Given the description of an element on the screen output the (x, y) to click on. 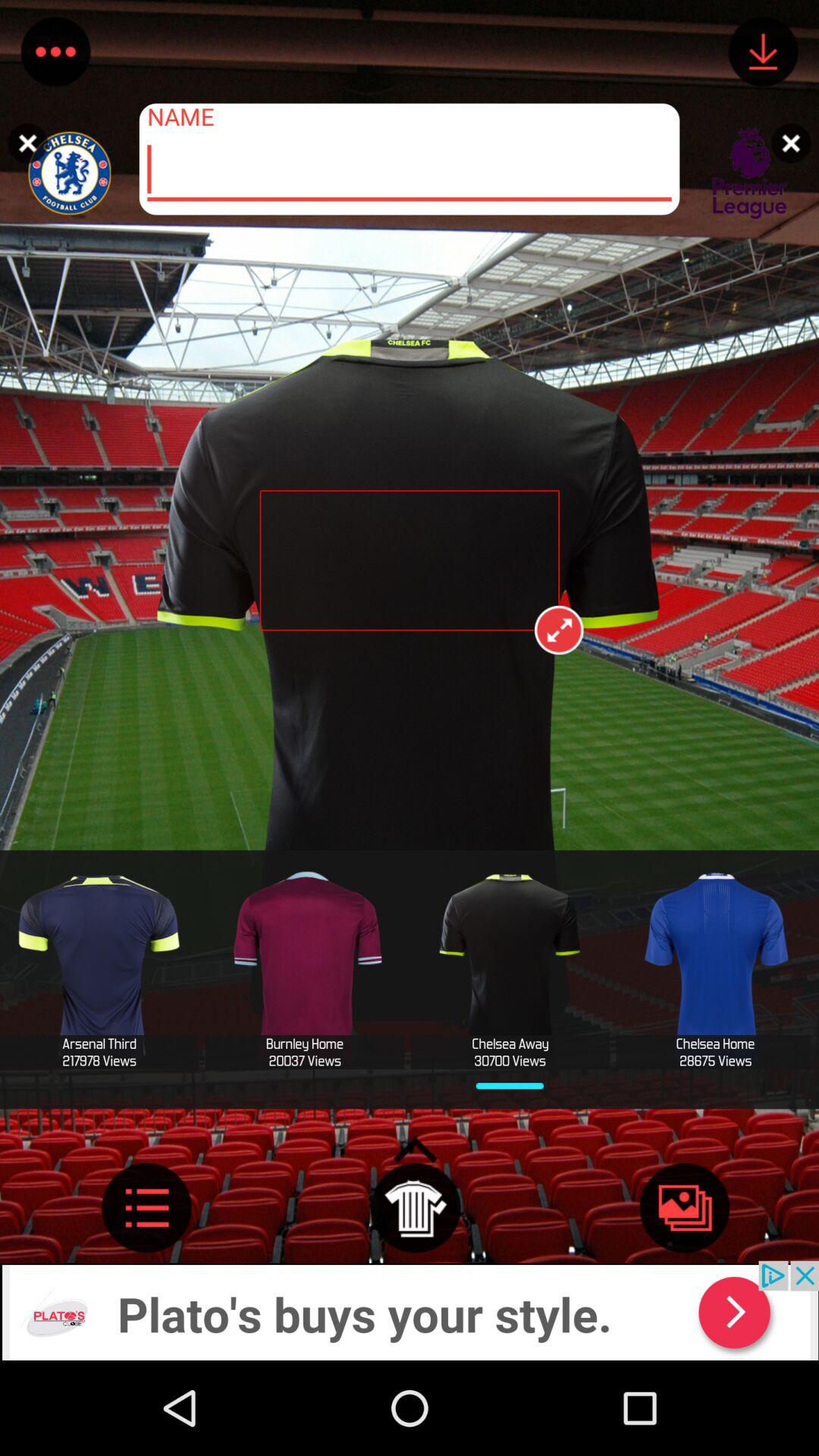
click on option left to blue tshirt (510, 969)
blue color jersey option on right side (714, 969)
select the wrong icon which is right to the name field (795, 133)
